Given the description of an element on the screen output the (x, y) to click on. 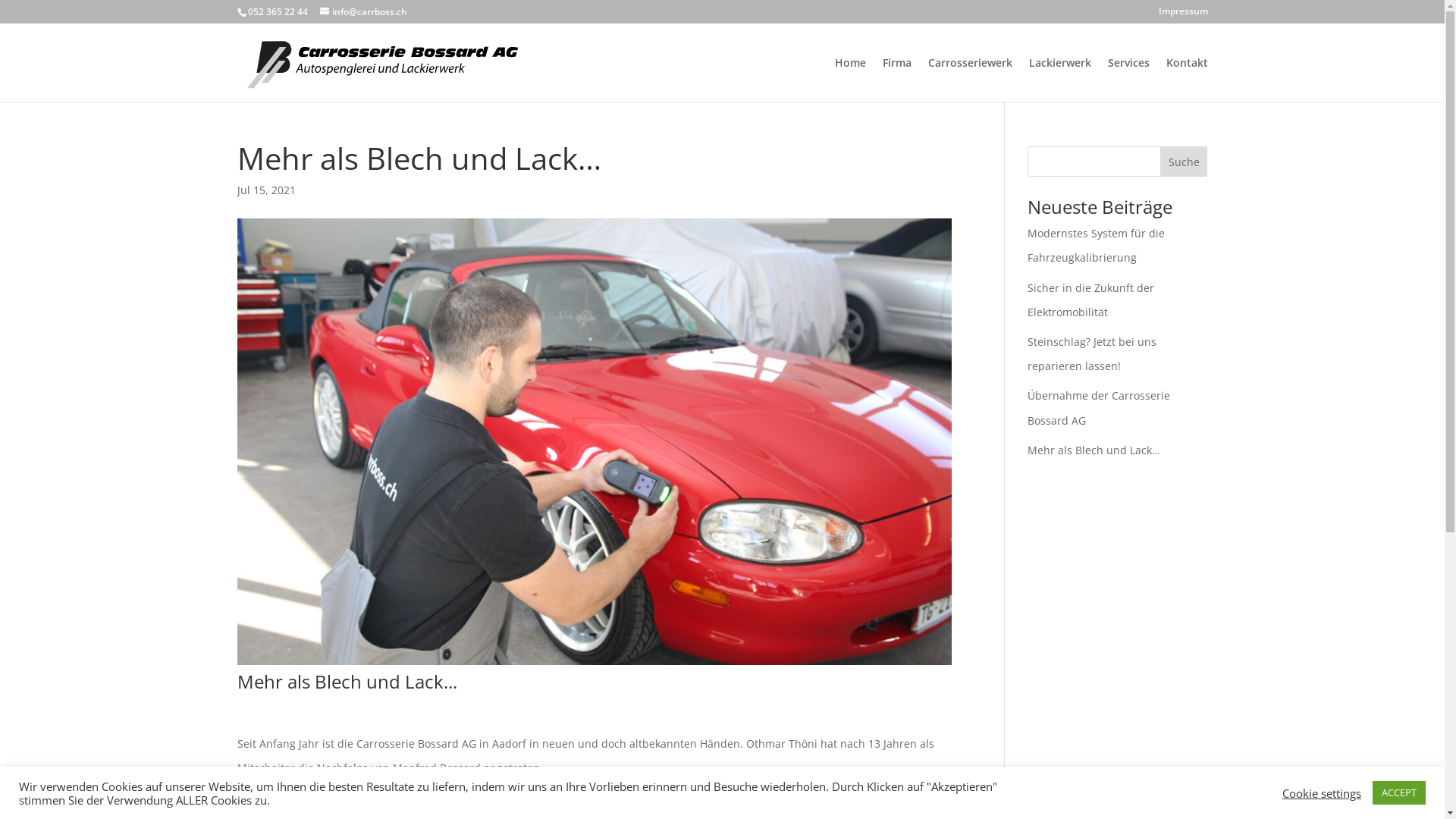
info@carrboss.ch Element type: text (363, 11)
 PDF Element type: text (274, 804)
ACCEPT Element type: text (1398, 792)
Home Element type: text (849, 79)
Suche Element type: text (1184, 161)
Carrosseriewerk Element type: text (970, 79)
Lackierwerk Element type: text (1059, 79)
Kontakt Element type: text (1187, 79)
Steinschlag? Jetzt bei uns reparieren lassen! Element type: text (1091, 353)
Cookie settings Element type: text (1321, 792)
Impressum Element type: text (1183, 14)
Services Element type: text (1127, 79)
Firma Element type: text (896, 79)
